Given the description of an element on the screen output the (x, y) to click on. 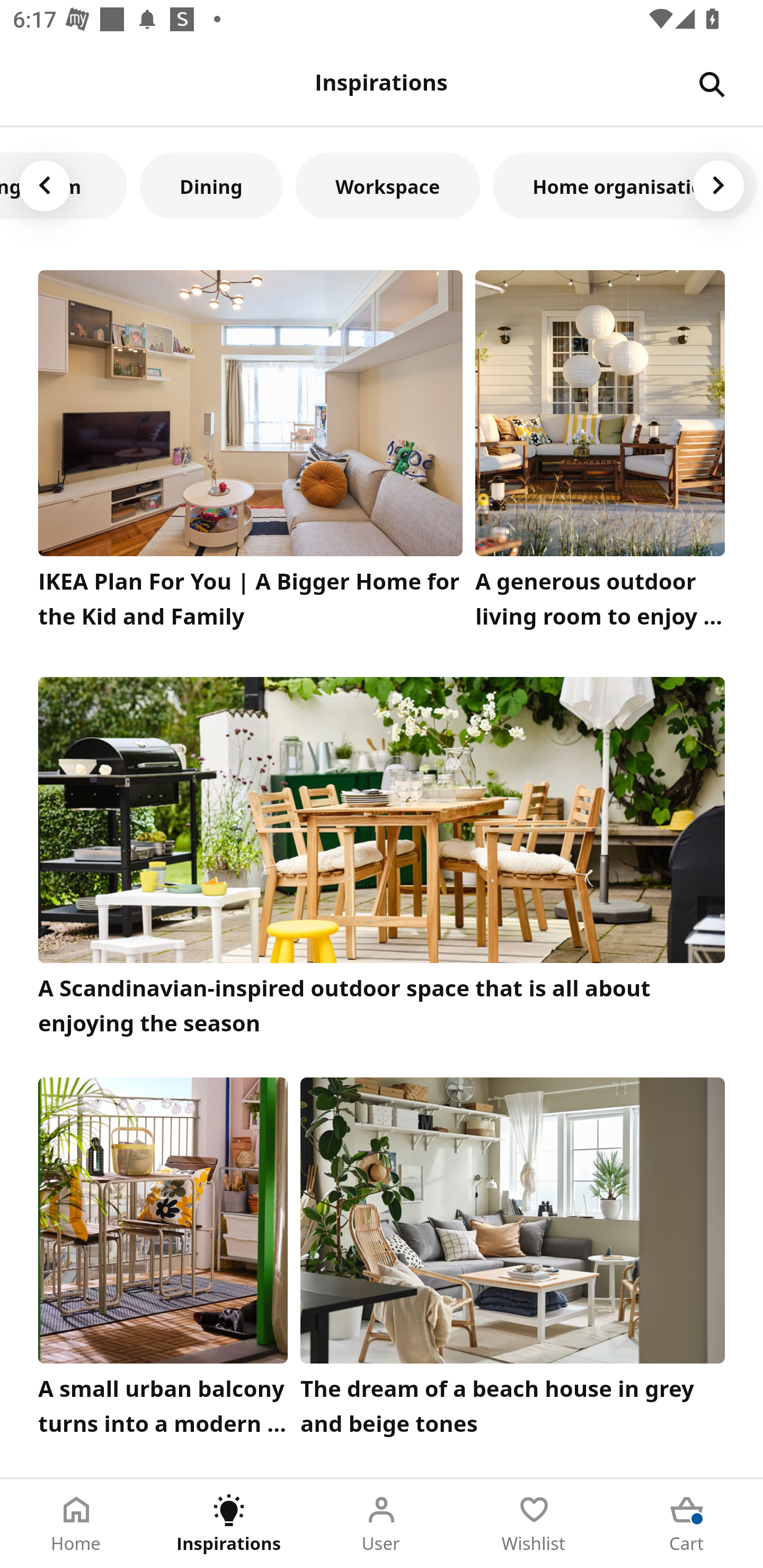
Dining (211, 185)
Workspace (387, 185)
Home organisation (624, 185)
The dream of a beach house in grey and beige tones (512, 1261)
Home
Tab 1 of 5 (76, 1522)
Inspirations
Tab 2 of 5 (228, 1522)
User
Tab 3 of 5 (381, 1522)
Wishlist
Tab 4 of 5 (533, 1522)
Cart
Tab 5 of 5 (686, 1522)
